Given the description of an element on the screen output the (x, y) to click on. 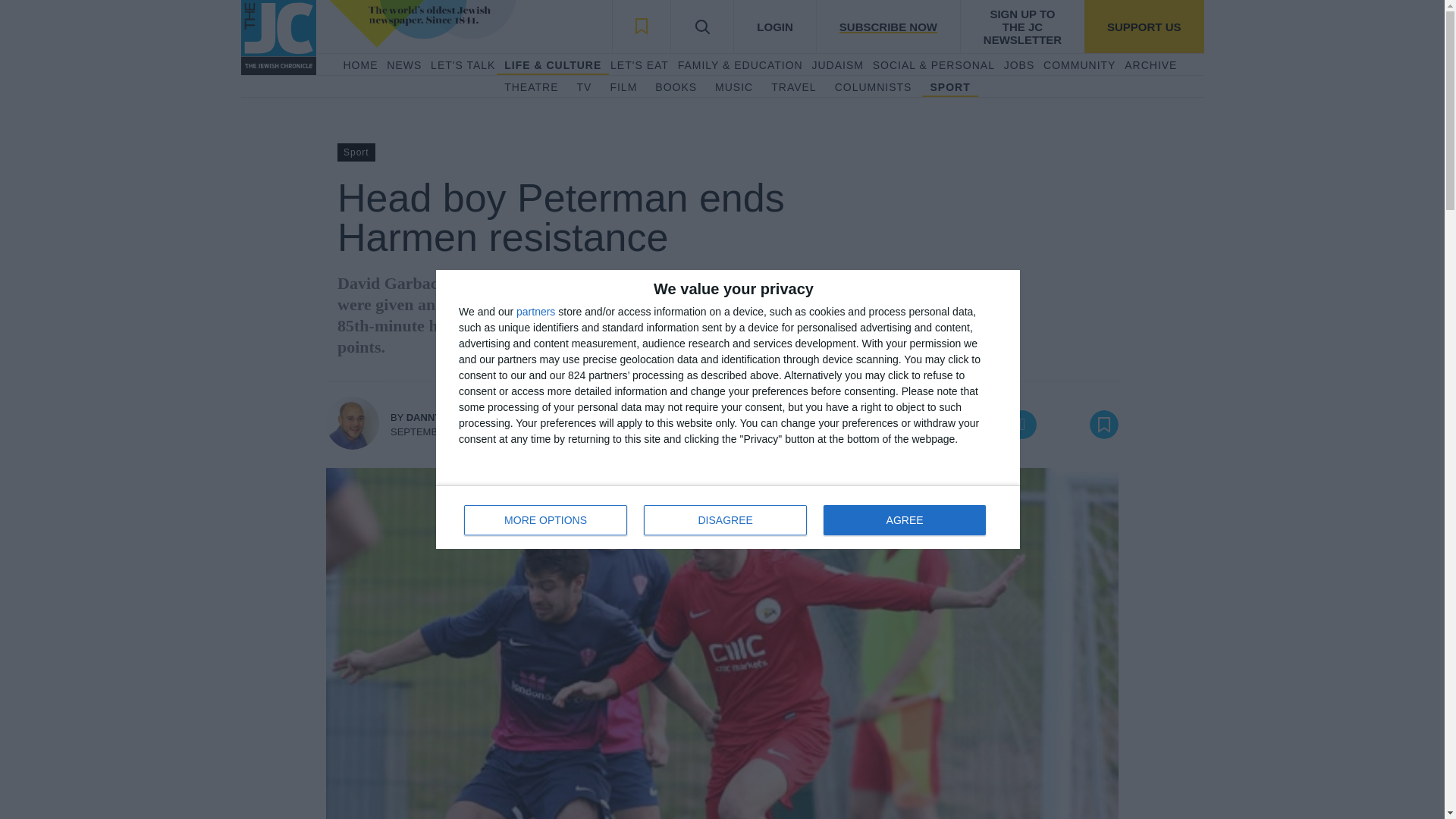
SIGN UP TO THE JC NEWSLETTER (1021, 26)
SUPPORT US (1144, 26)
TRAVEL (793, 87)
THEATRE (530, 87)
FILM (623, 87)
SUBSCRIBE NOW (887, 26)
BOOKS (676, 87)
TV (584, 87)
ARCHIVE (1150, 65)
MORE OPTIONS (545, 520)
